Given the description of an element on the screen output the (x, y) to click on. 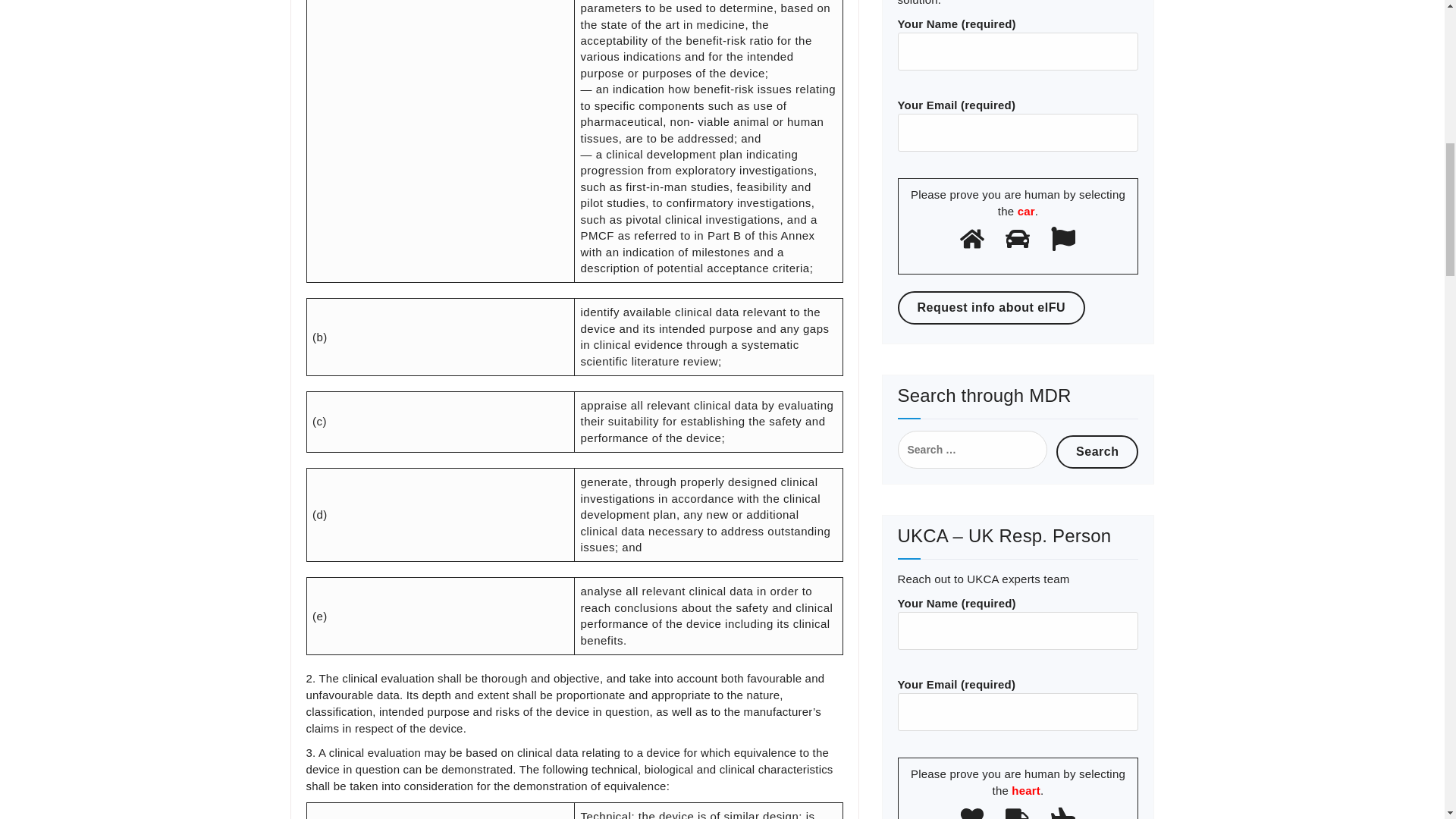
Request info about eIFU (992, 307)
Search (1097, 451)
Search (1097, 451)
